Given the description of an element on the screen output the (x, y) to click on. 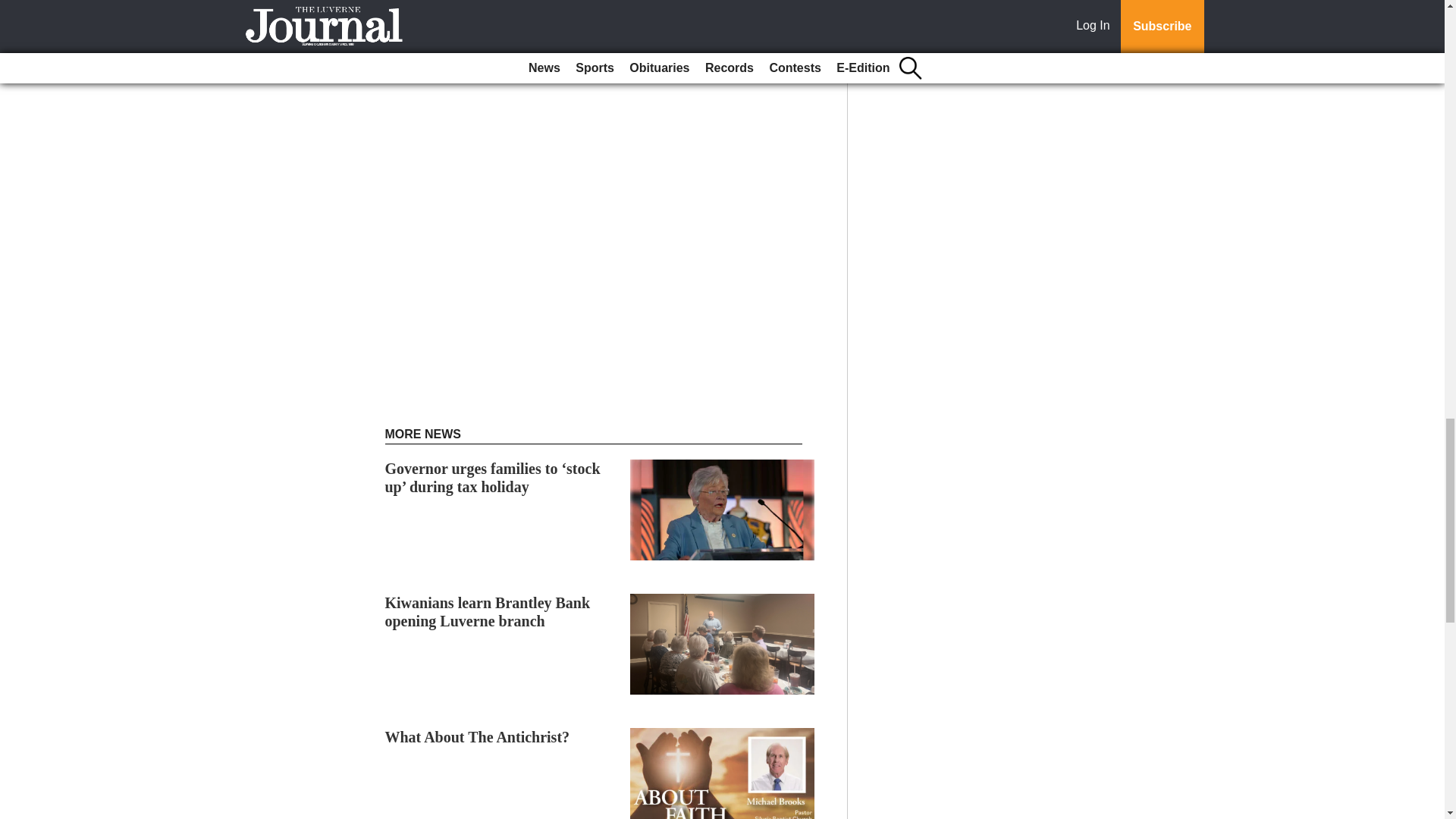
Kiwanians learn Brantley Bank opening Luverne branch (488, 611)
What About The Antichrist? (477, 736)
Kiwanians learn Brantley Bank opening Luverne branch (488, 611)
What About The Antichrist? (477, 736)
